Given the description of an element on the screen output the (x, y) to click on. 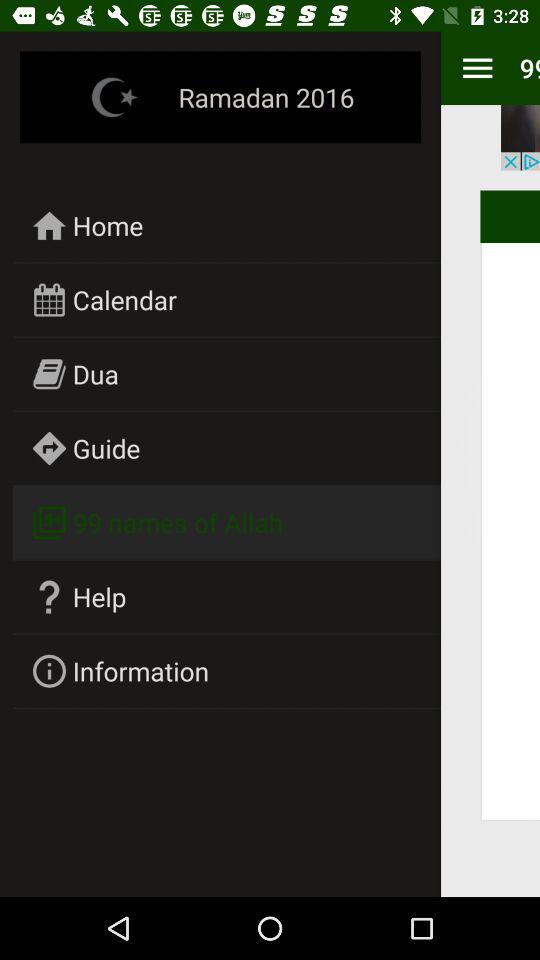
click to menu option (477, 68)
